Given the description of an element on the screen output the (x, y) to click on. 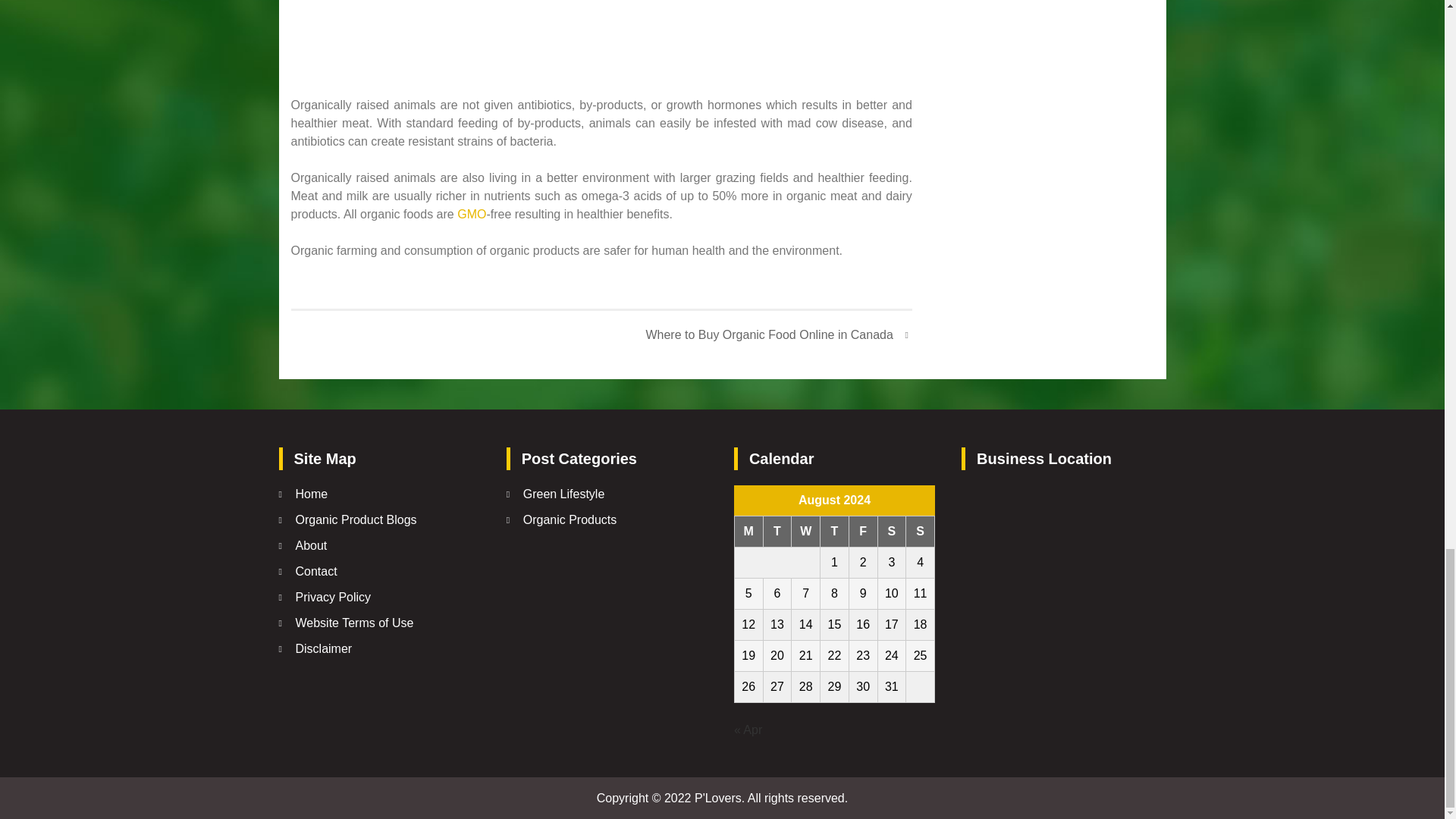
Friday (862, 531)
Thursday (834, 531)
Saturday (891, 531)
Sunday (919, 531)
GMO (471, 214)
Tuesday (777, 531)
Monday (747, 531)
Wednesday (806, 531)
Where to Buy Organic Food Online in Canada (778, 334)
